Given the description of an element on the screen output the (x, y) to click on. 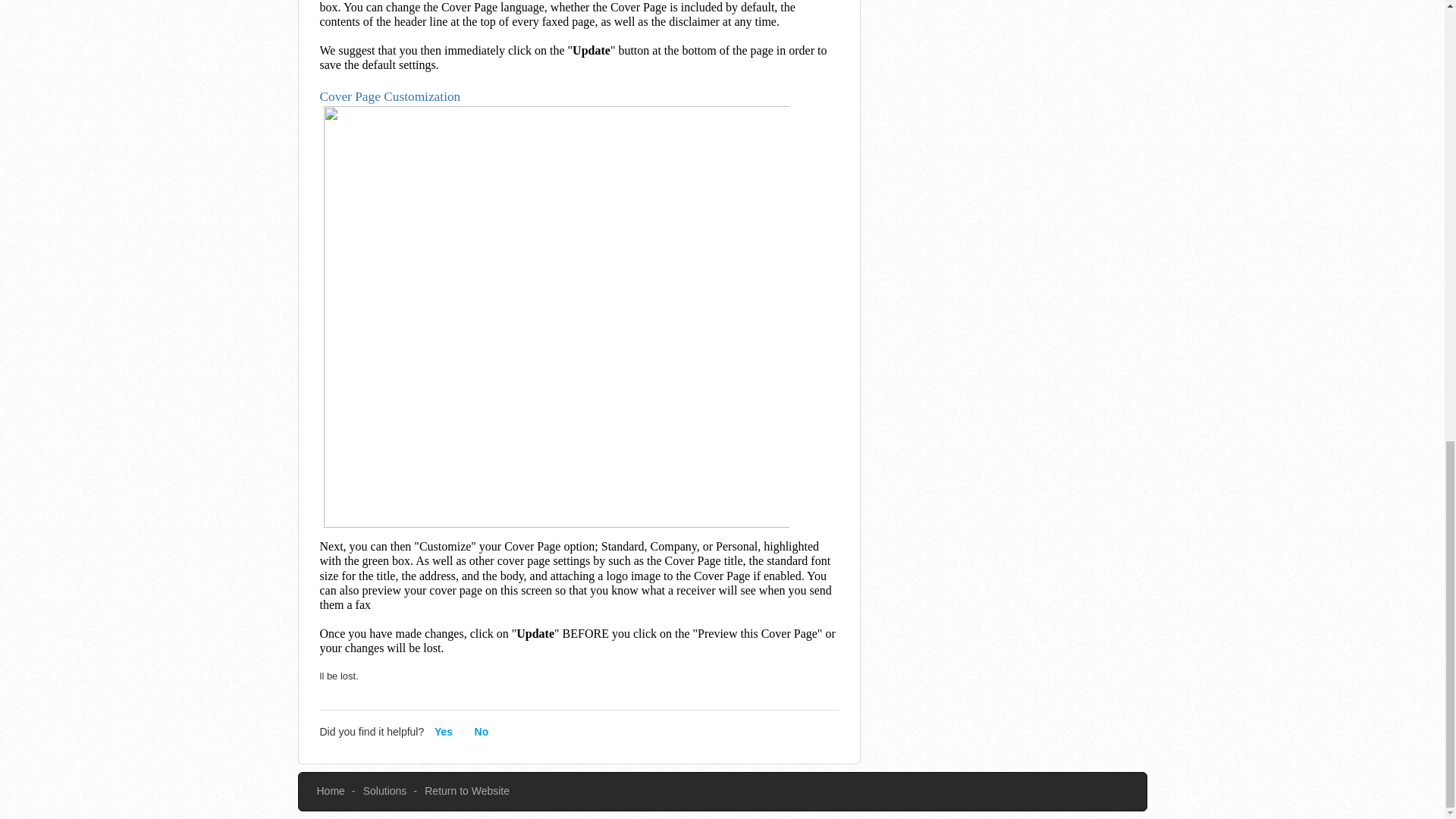
Solutions (384, 790)
Home (331, 790)
Return to Website (467, 790)
